Given the description of an element on the screen output the (x, y) to click on. 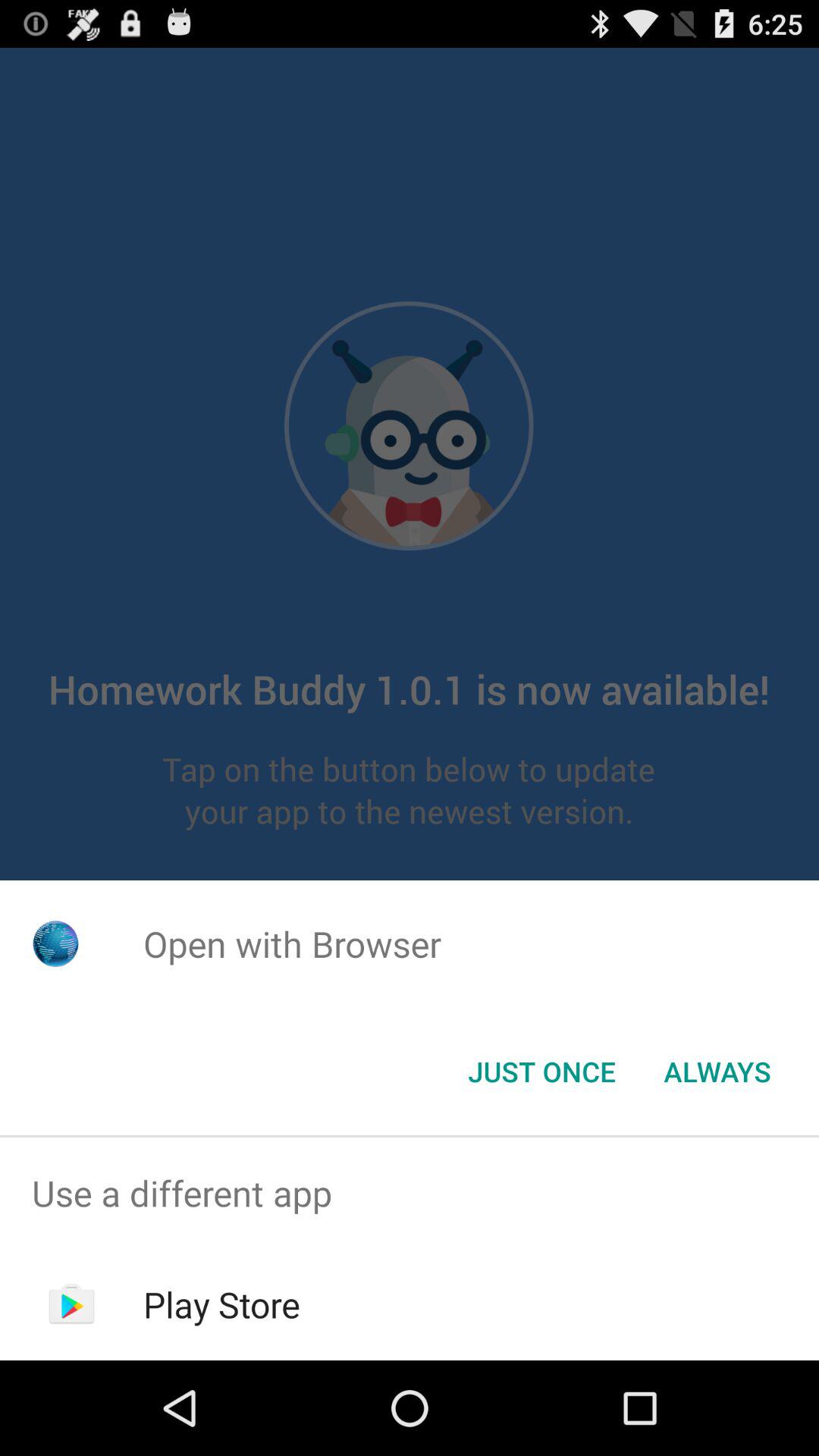
scroll until the use a different icon (409, 1192)
